Given the description of an element on the screen output the (x, y) to click on. 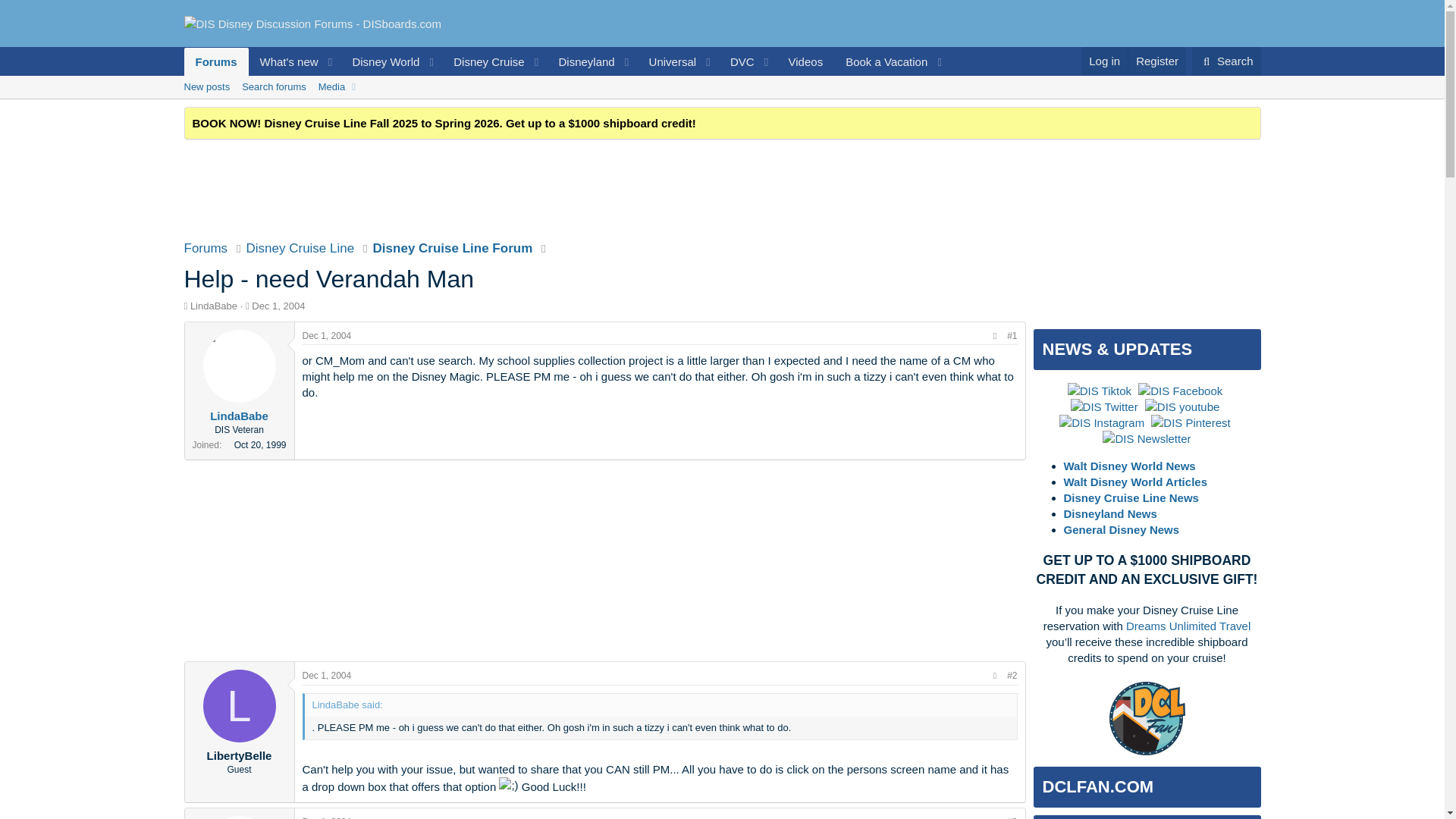
Disney World (380, 61)
Disney Cruise (483, 61)
Universal (667, 61)
Disney Cruise Line Information (483, 61)
What's new (284, 61)
Search (1226, 61)
Forums (215, 61)
Disneyland (581, 61)
Walt Disney World Information (721, 104)
